Given the description of an element on the screen output the (x, y) to click on. 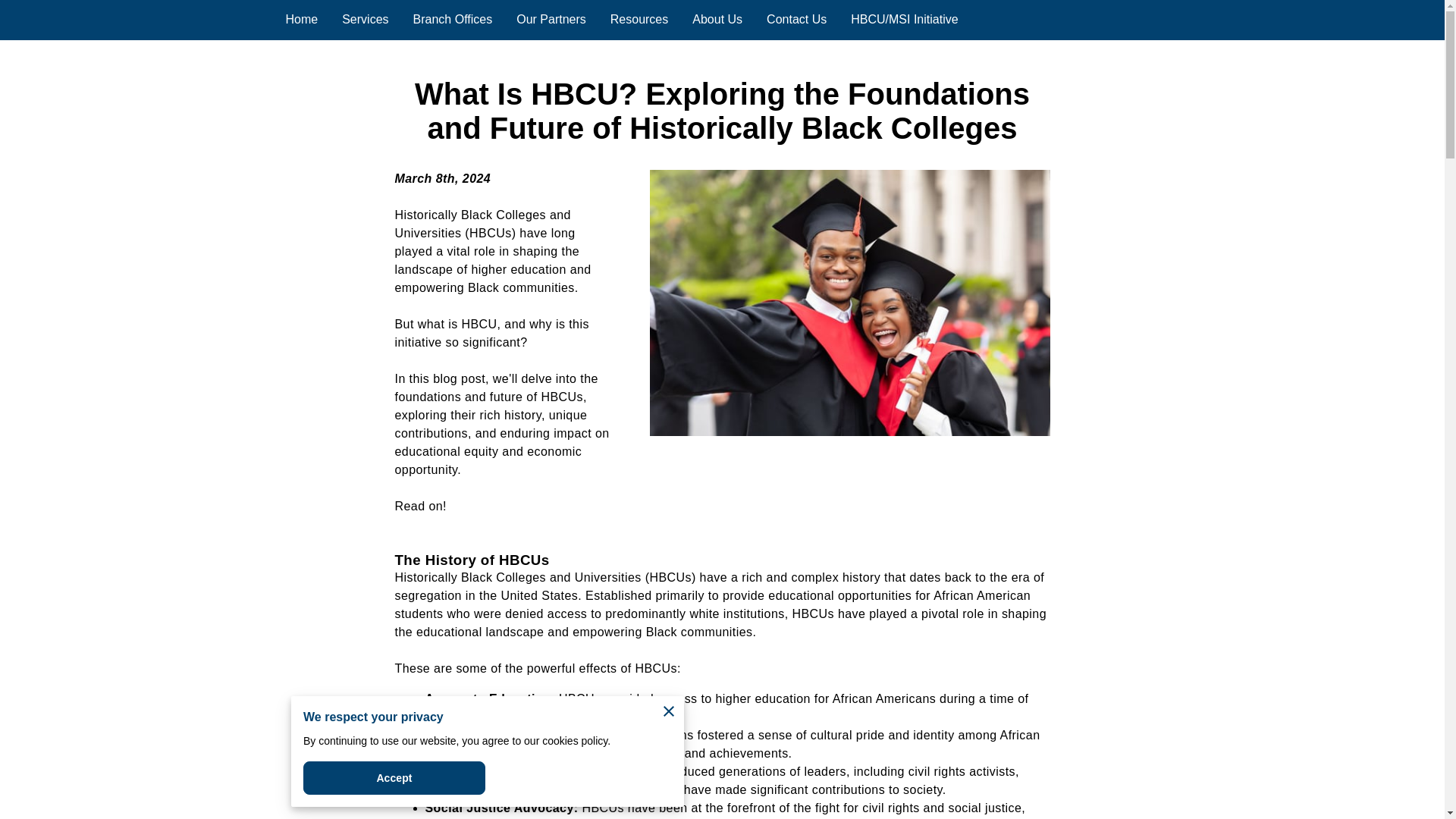
Resources (639, 20)
Contact Us (797, 20)
Services (365, 20)
Our Partners (551, 20)
Accept (393, 777)
About Us (717, 20)
Branch Offices (453, 20)
